Given the description of an element on the screen output the (x, y) to click on. 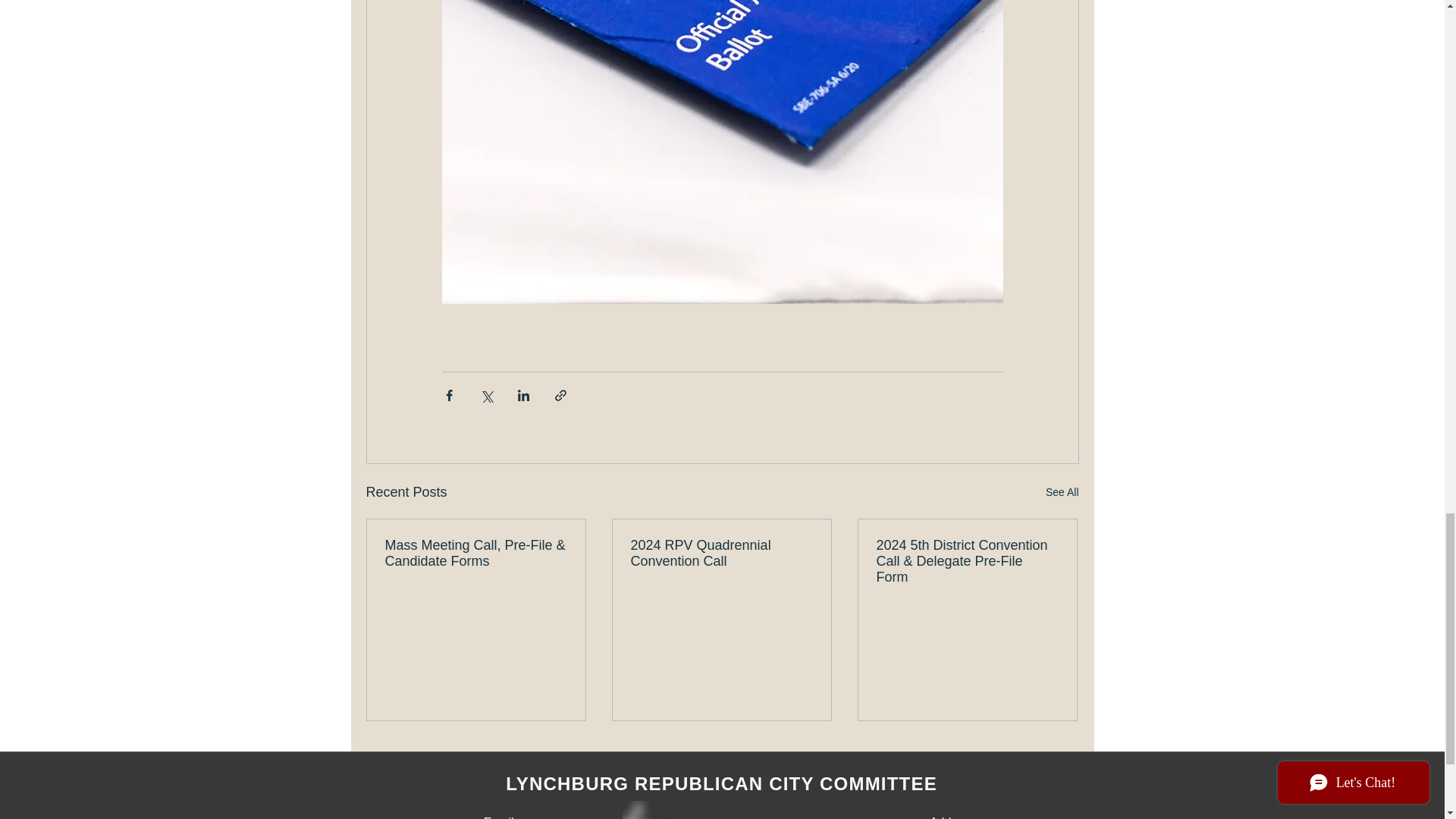
See All (1061, 492)
2024 RPV Quadrennial Convention Call (721, 553)
